Given the description of an element on the screen output the (x, y) to click on. 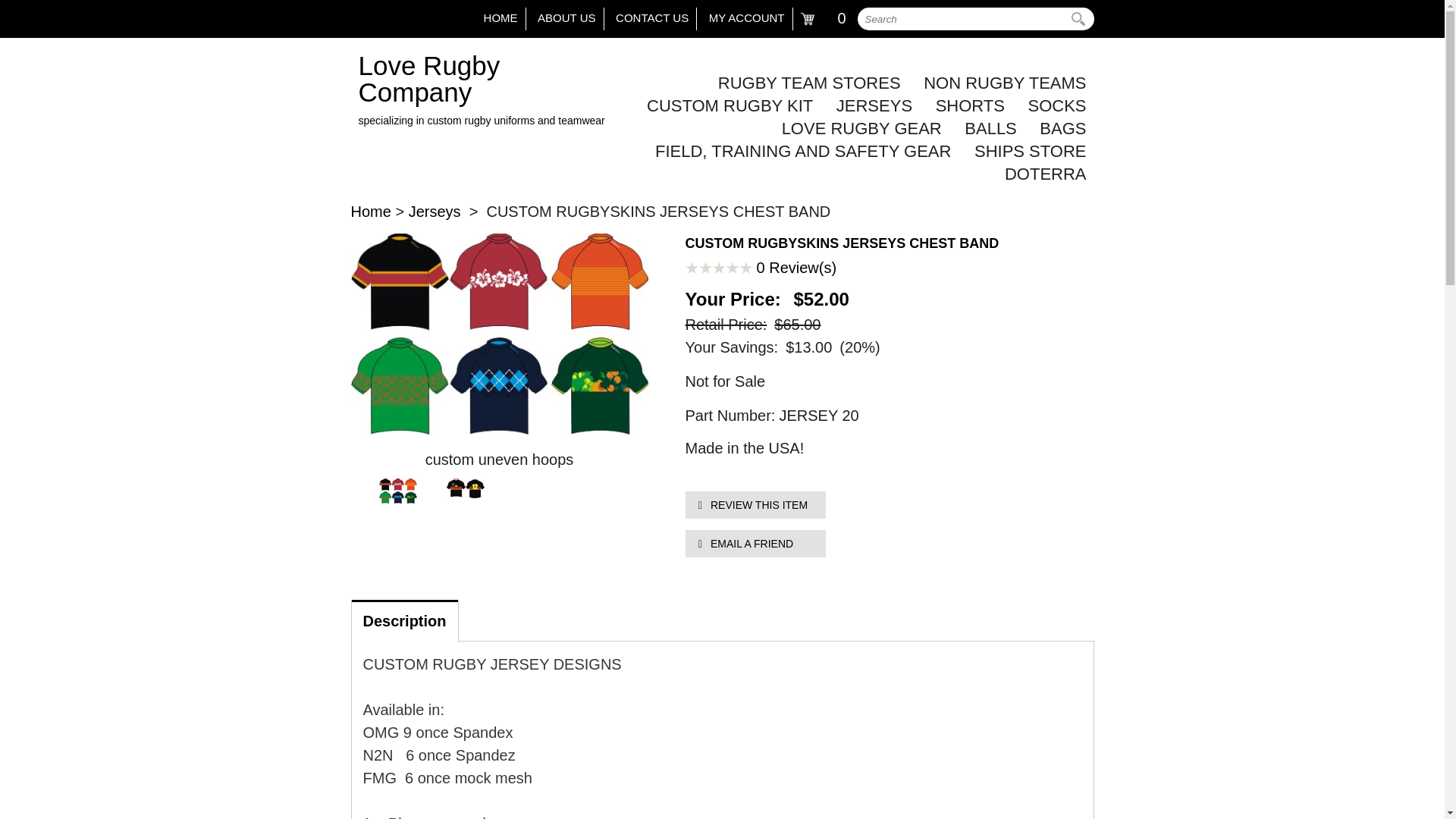
CUSTOM RUGBY KIT (719, 106)
0 (825, 18)
custom uneven hoops  (498, 458)
NON RUGBY TEAMS (995, 83)
MY ACCOUNT (746, 17)
JERSEYS (864, 106)
ABOUT US (566, 17)
Love Rugby Company (485, 90)
CONTACT US (651, 17)
